Given the description of an element on the screen output the (x, y) to click on. 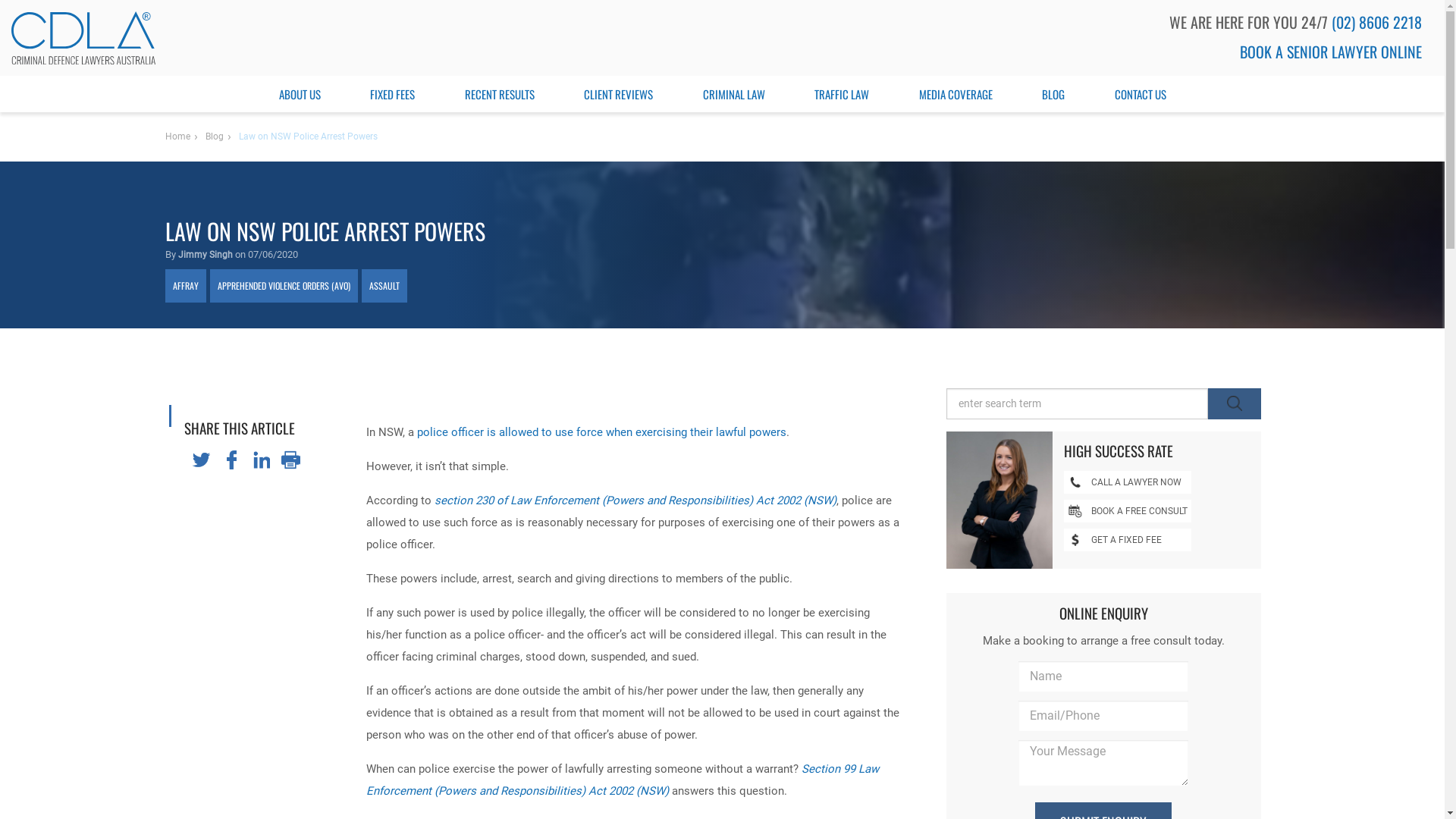
Blog Element type: text (213, 136)
CLIENT REVIEWS Element type: text (617, 93)
Search Our Site Element type: text (1233, 403)
CALL A LAWYER NOW Element type: text (1126, 481)
MEDIA COVERAGE Element type: text (955, 93)
GET A FIXED FEE Element type: text (1126, 539)
BLOG Element type: text (1052, 93)
APPREHENDED VIOLENCE ORDERS (AVO) Element type: text (283, 285)
Home Element type: text (177, 136)
(02) 8606 2218 Element type: text (1382, 21)
AFFRAY Element type: text (185, 285)
ASSAULT Element type: text (383, 285)
FIXED FEES Element type: text (392, 93)
CONTACT US Element type: text (1140, 93)
Jimmy Singh Element type: text (204, 254)
BOOK A FREE CONSULT Element type: text (1126, 510)
BOOK A SENIOR LAWYER ONLINE Element type: text (1336, 51)
